Given the description of an element on the screen output the (x, y) to click on. 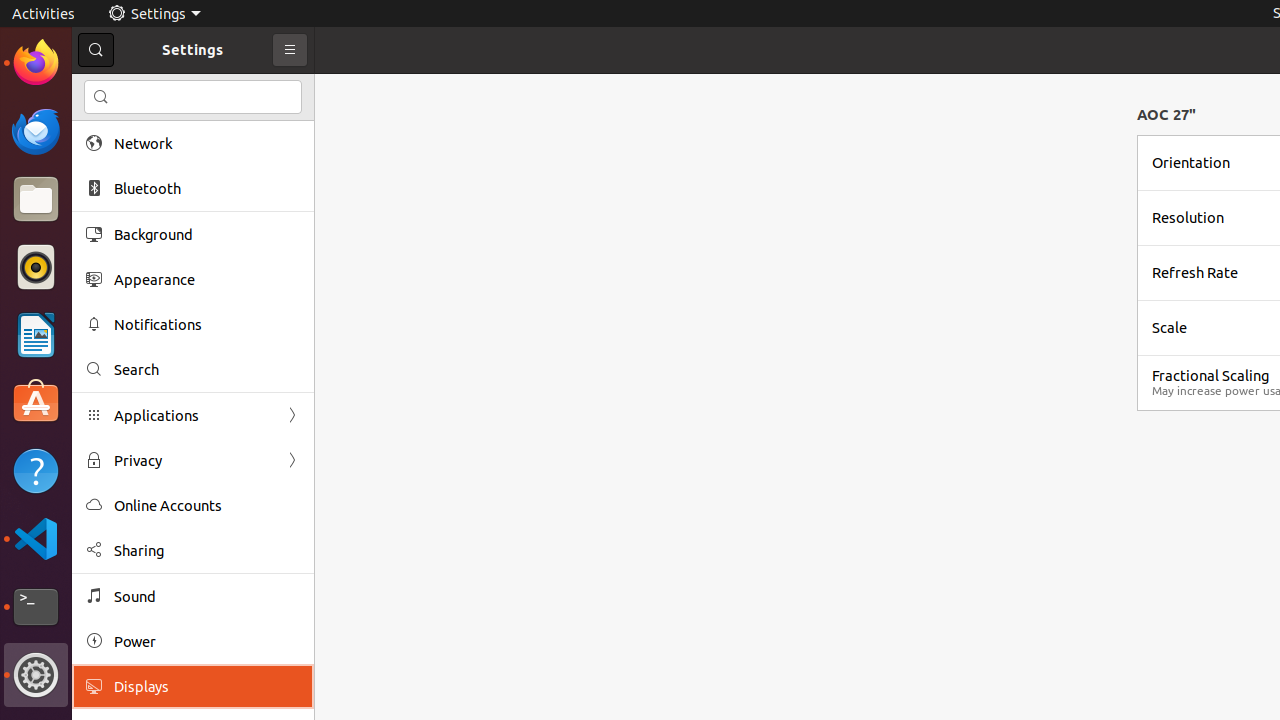
Search Element type: label (207, 369)
Fractional Scaling Element type: label (1210, 375)
